Given the description of an element on the screen output the (x, y) to click on. 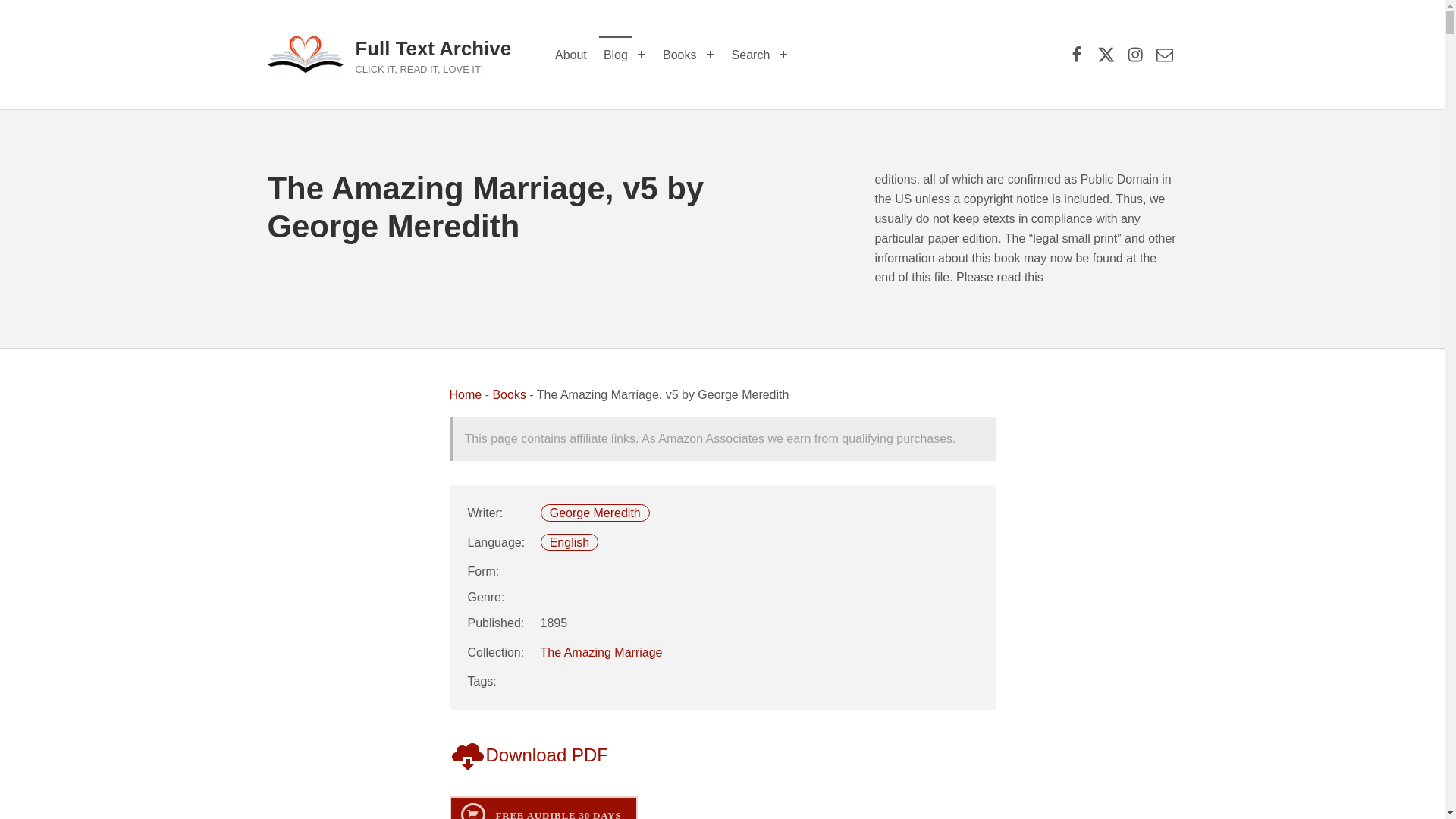
FREE AUDIBLE 30 DAYS (542, 807)
Books (679, 54)
Search (750, 54)
Home (464, 394)
The Amazing Marriage (601, 652)
George Meredith (595, 512)
Blog (614, 54)
Full Text Archive (433, 47)
About (570, 54)
Download PDF (527, 754)
